Given the description of an element on the screen output the (x, y) to click on. 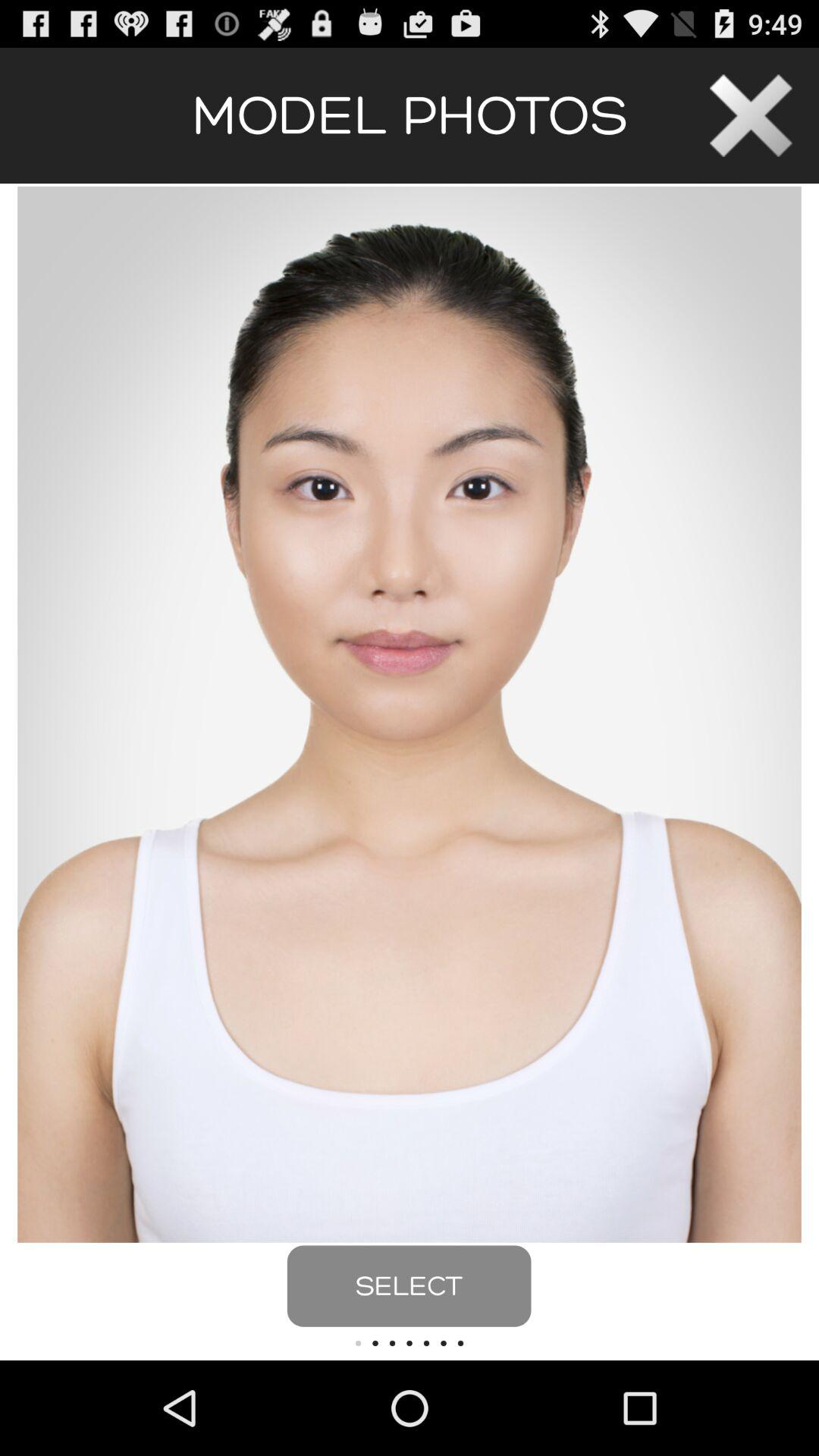
jump to select item (409, 1285)
